Given the description of an element on the screen output the (x, y) to click on. 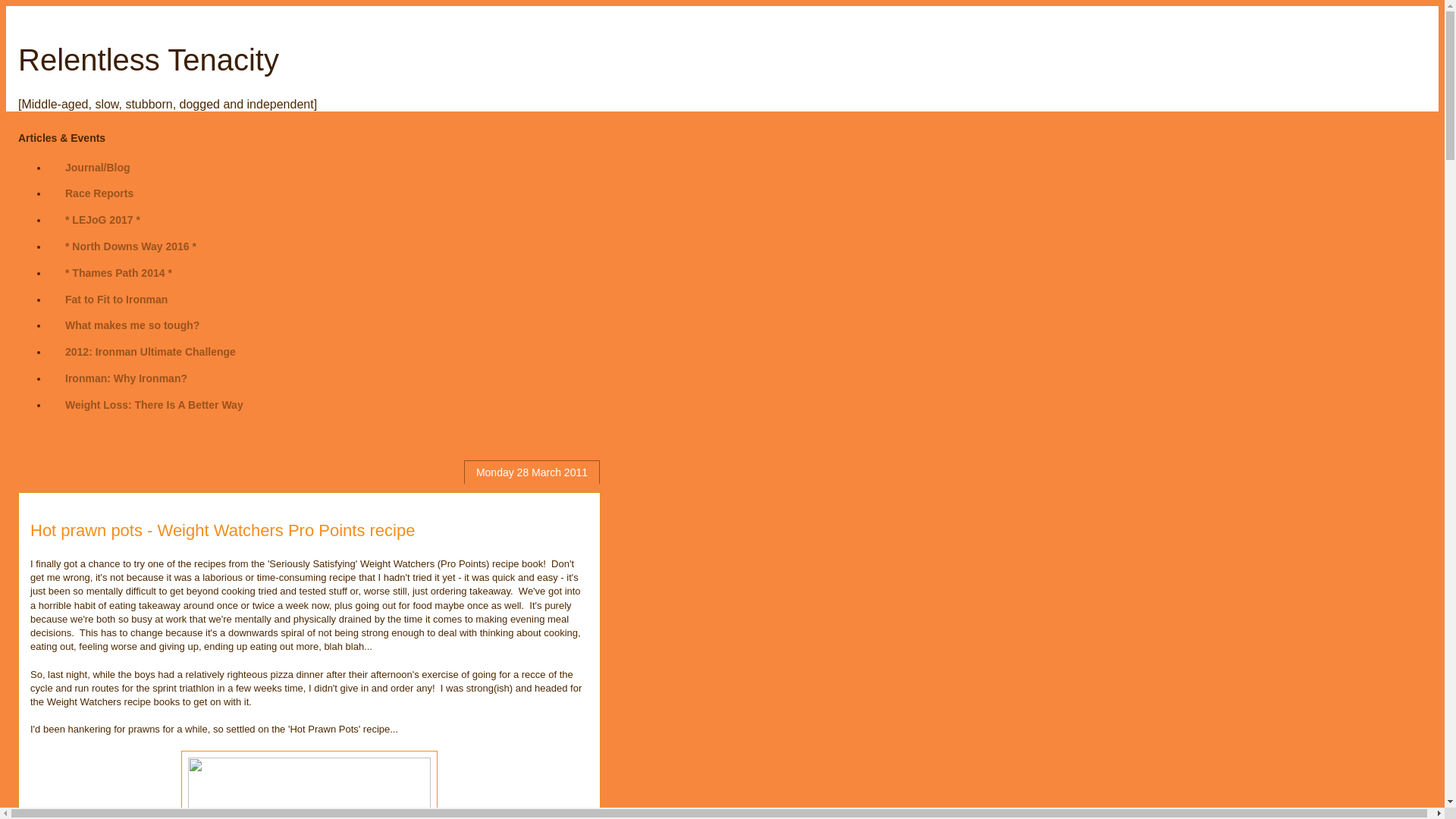
Relentless Tenacity (148, 59)
Ironman: Why Ironman? (125, 377)
Race Reports (98, 193)
Weight Loss: There Is A Better Way (154, 404)
2012: Ironman Ultimate Challenge (149, 352)
What makes me so tough? (131, 325)
Fat to Fit to Ironman (115, 298)
